Given the description of an element on the screen output the (x, y) to click on. 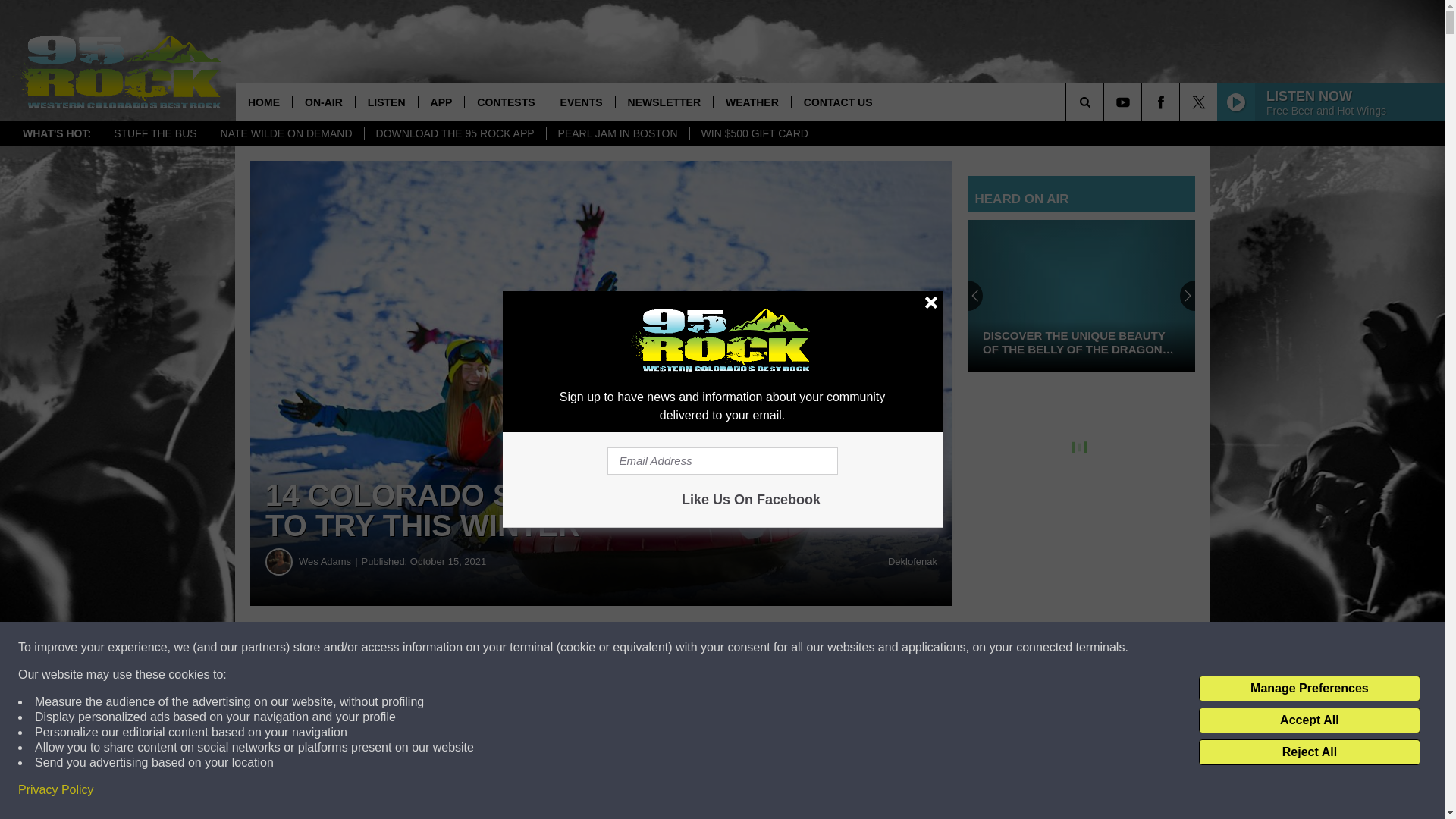
Email Address (722, 461)
ON-AIR (323, 102)
STUFF THE BUS (154, 133)
SEARCH (1106, 102)
APP (440, 102)
CONTESTS (505, 102)
NATE WILDE ON DEMAND (286, 133)
HOME (263, 102)
SEARCH (1106, 102)
Share on Facebook (460, 647)
PEARL JAM IN BOSTON (617, 133)
Share on Twitter (741, 647)
DOWNLOAD THE 95 ROCK APP (455, 133)
Accept All (1309, 720)
Reject All (1309, 751)
